Given the description of an element on the screen output the (x, y) to click on. 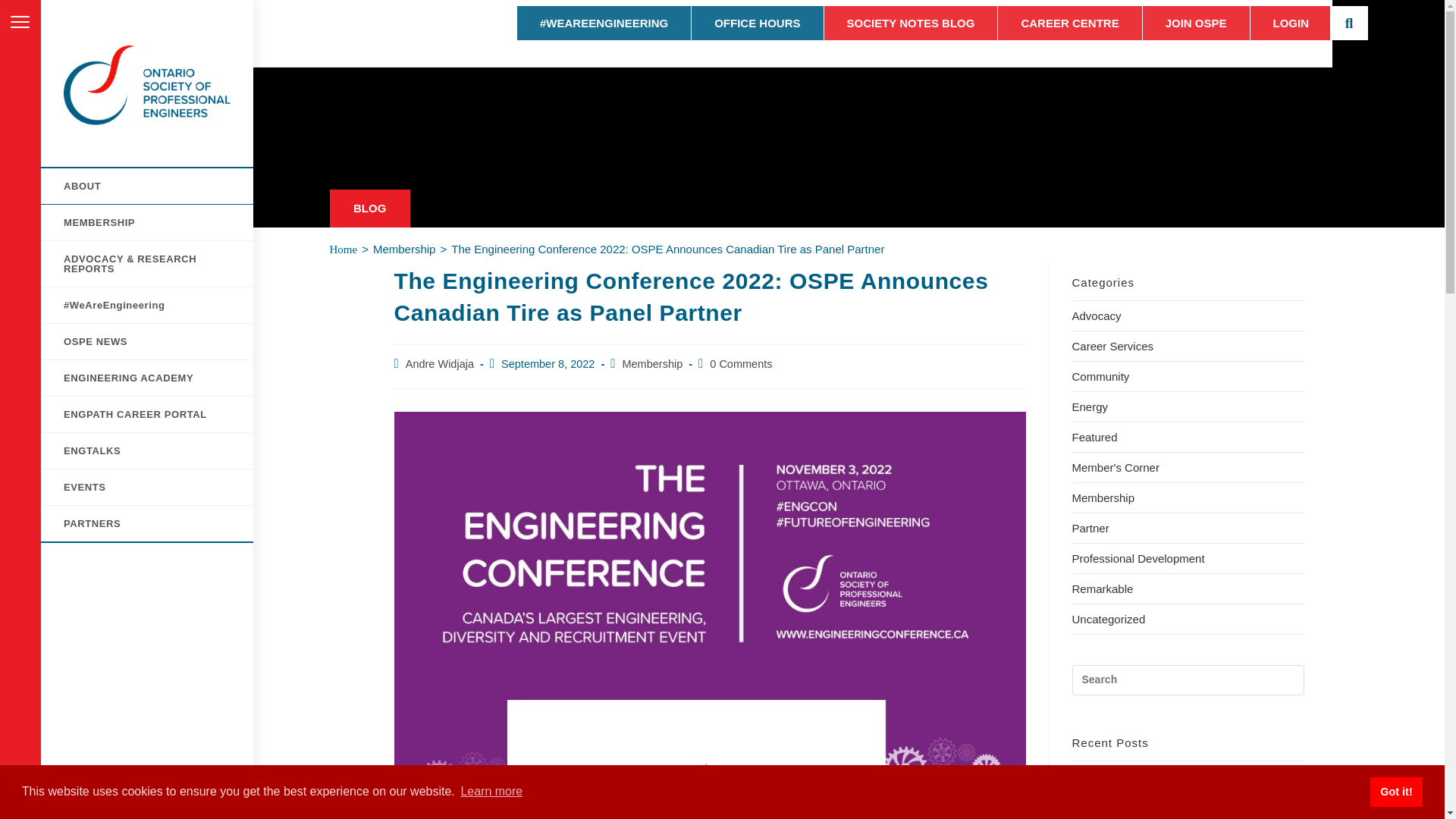
ABOUT (146, 185)
CAREER CENTRE (1069, 22)
LOGIN (1290, 22)
JOIN OSPE (1195, 22)
MEMBERSHIP (146, 222)
Learn more (491, 791)
OFFICE HOURS (756, 22)
SOCIETY NOTES BLOG (910, 22)
Got it! (1396, 791)
Posts by Andre Widjaja (440, 363)
